Given the description of an element on the screen output the (x, y) to click on. 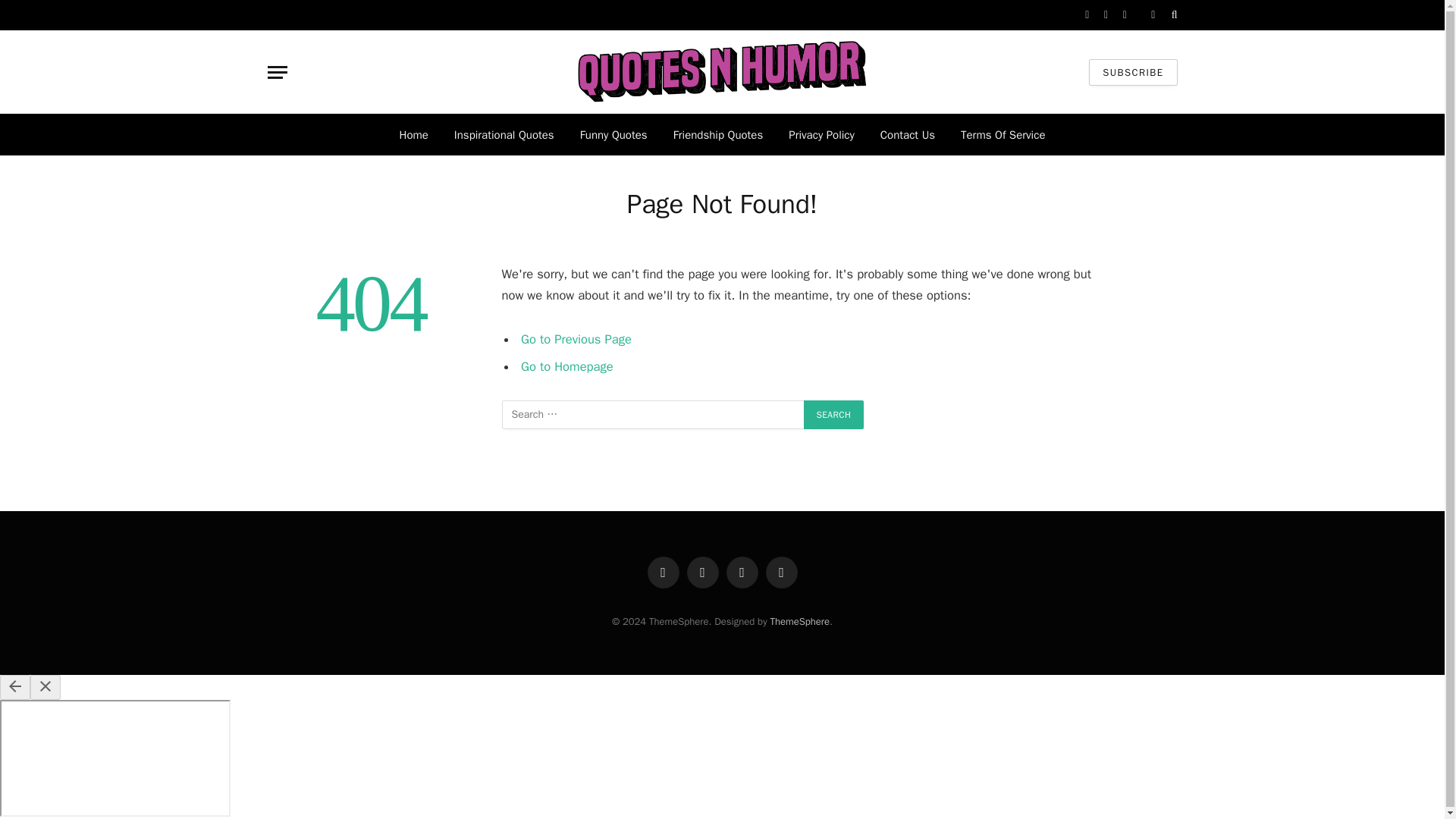
Go to Previous Page (576, 339)
Pinterest (781, 572)
Search (833, 414)
Contact Us (907, 134)
Search (833, 414)
Facebook (663, 572)
Search (833, 414)
Switch to Dark Design - easier on eyes. (1152, 14)
Instagram (742, 572)
Go to Homepage (566, 365)
ThemeSphere (799, 621)
Inspirational Quotes (504, 134)
Home (414, 134)
Privacy Policy (821, 134)
Terms Of Service (1002, 134)
